Given the description of an element on the screen output the (x, y) to click on. 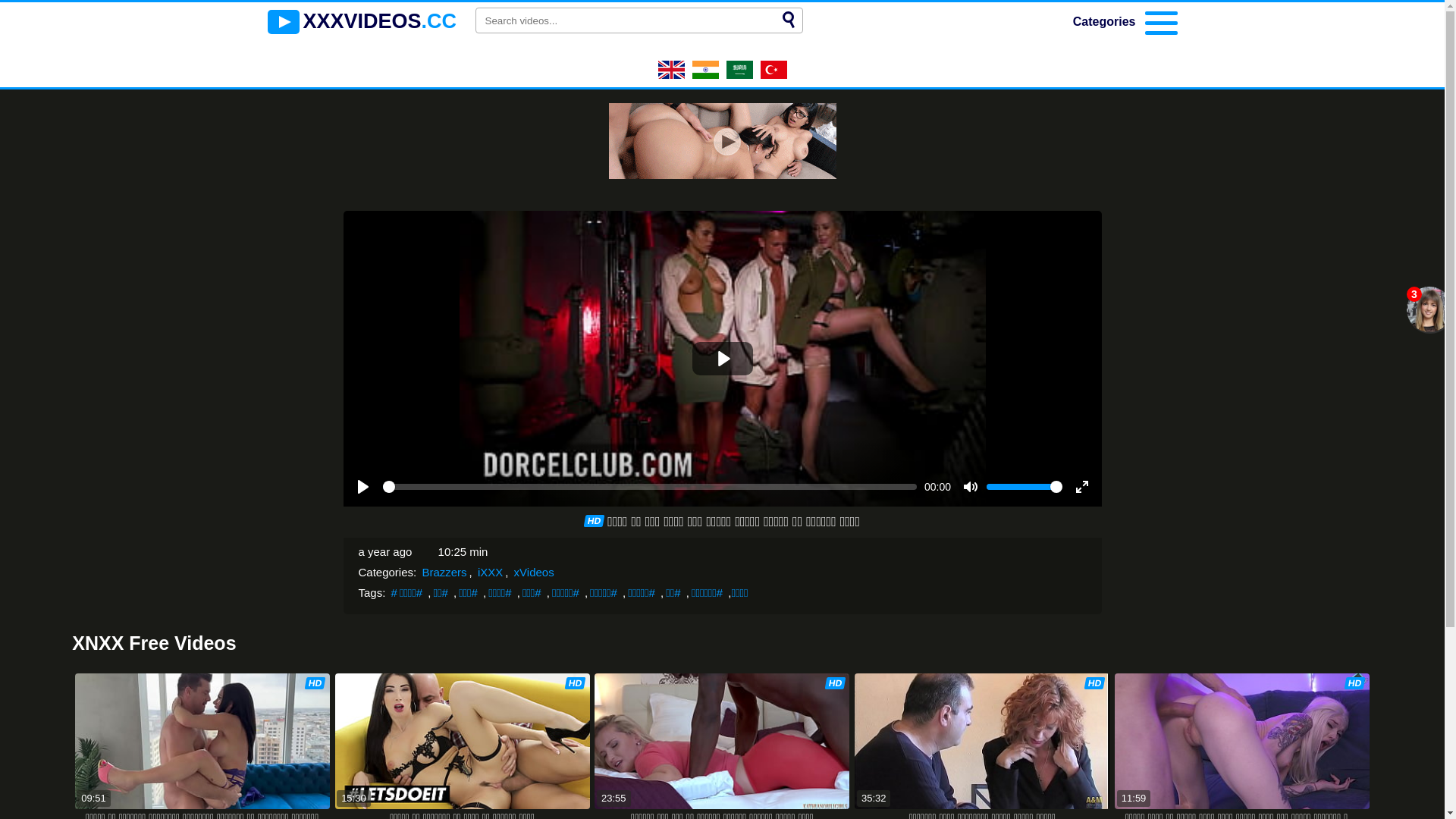
IN Element type: hover (704, 74)
Search Element type: text (788, 20)
EN Element type: hover (671, 74)
xVideos Element type: text (534, 571)
iXXX Element type: text (489, 571)
SA Element type: hover (739, 74)
TR Element type: hover (772, 74)
Brazzers Element type: text (443, 571)
XXXVIDEOS.CC Element type: text (361, 21)
